Given the description of an element on the screen output the (x, y) to click on. 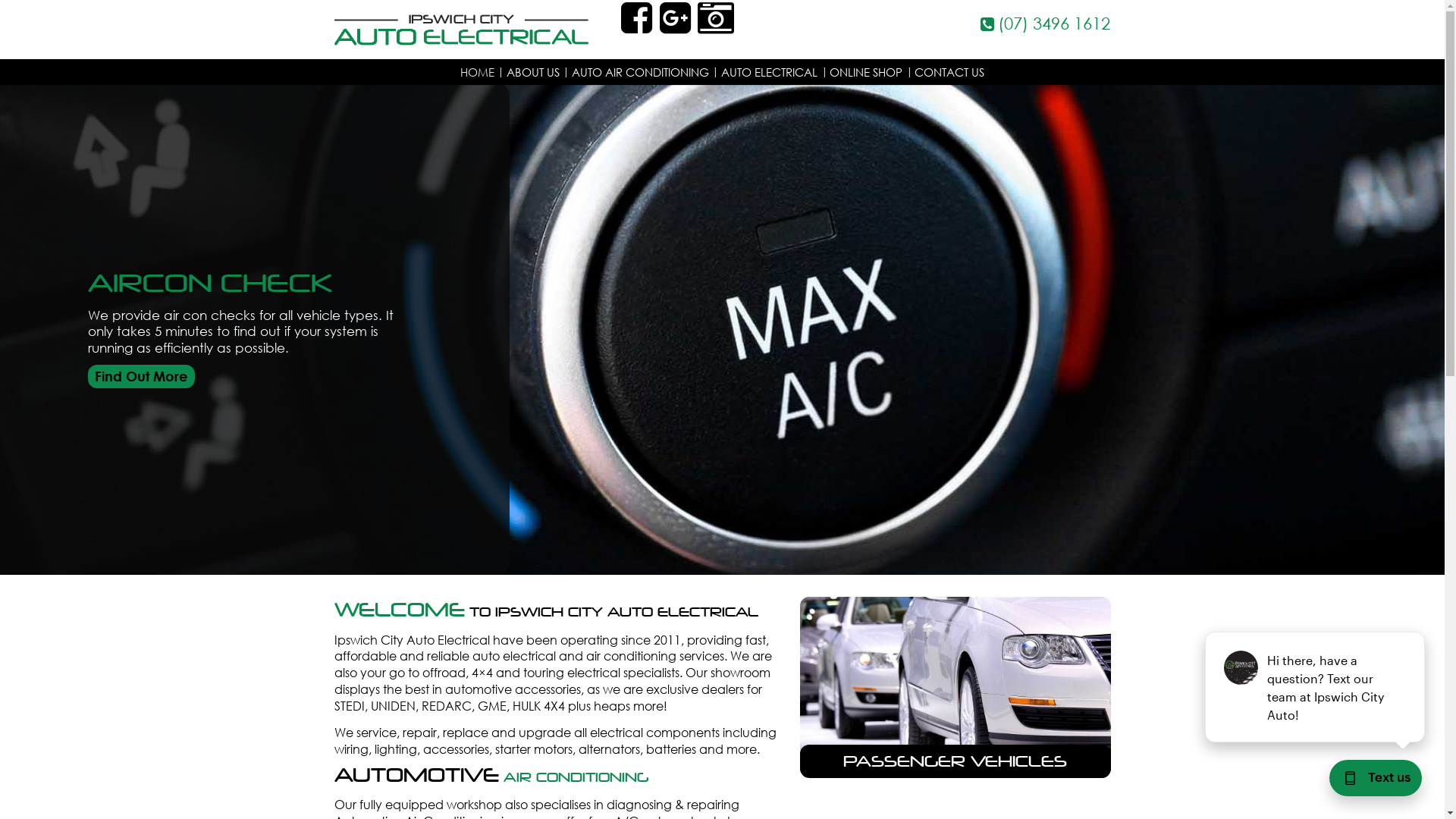
PASSENGER VEHICLES Element type: text (954, 761)
ONLINE SHOP Element type: text (865, 71)
Find Out More Element type: text (140, 376)
AUTO AIR CONDITIONING Element type: text (640, 71)
ABOUT US Element type: text (532, 71)
HOME Element type: text (477, 71)
CONTACT US Element type: text (949, 71)
(07) 3496 1612 Element type: text (993, 23)
AUTO ELECTRICAL Element type: text (769, 71)
podium webchat widget prompt Element type: hover (1315, 686)
